Given the description of an element on the screen output the (x, y) to click on. 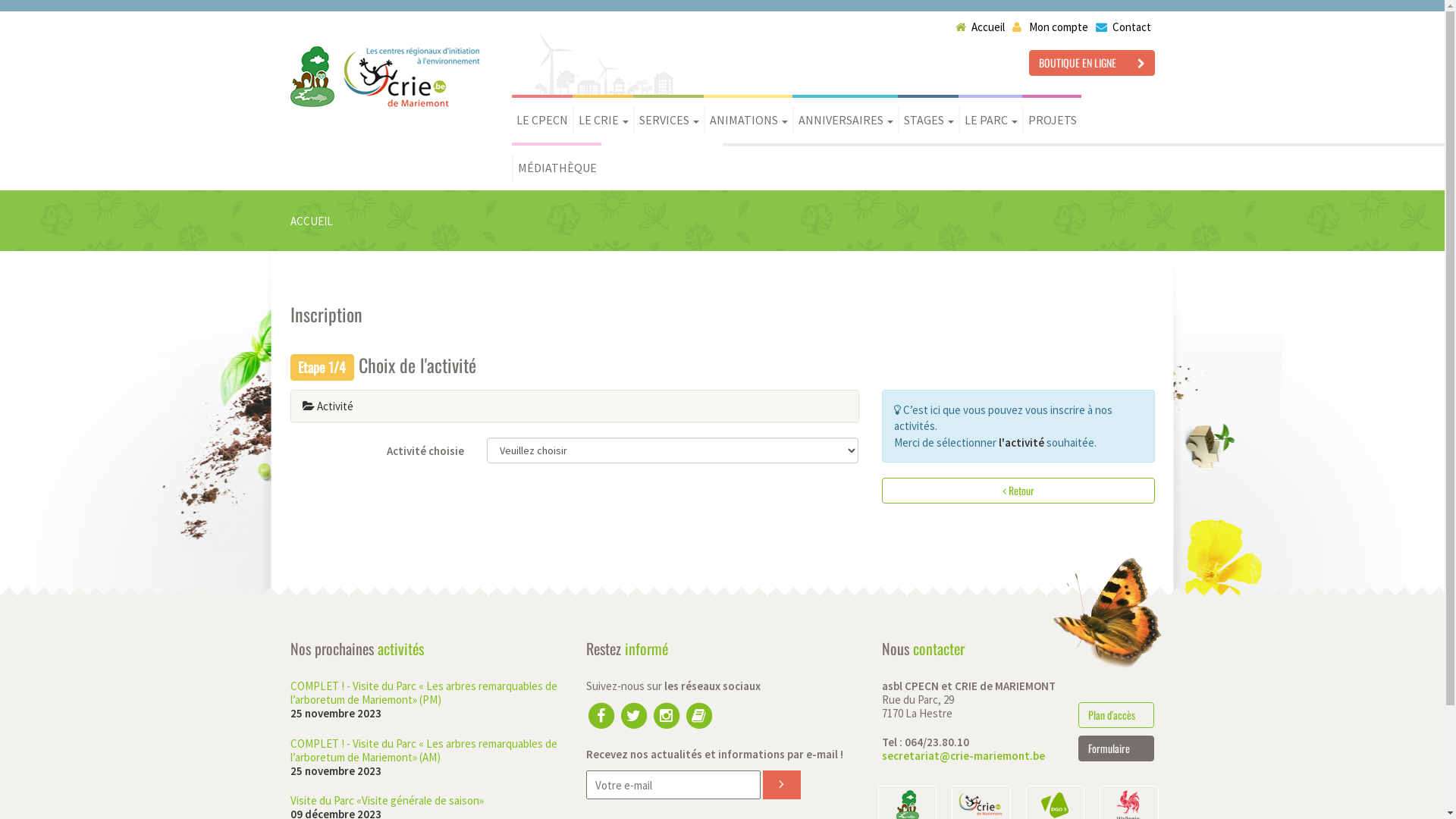
SERVICES Element type: text (668, 119)
Accueil Element type: text (979, 26)
Formulaire Element type: text (1116, 748)
Mon compte Element type: text (1049, 26)
secretariat@crie-mariemont.be Element type: text (962, 755)
STAGES Element type: text (927, 119)
LE PARC Element type: text (990, 119)
LE CPECN Element type: text (541, 119)
Retour Element type: text (1017, 490)
LE CRIE Element type: text (602, 119)
PROJETS Element type: text (1051, 119)
ANNIVERSAIRES Element type: text (844, 119)
Contact Element type: text (1122, 26)
ANIMATIONS Element type: text (747, 119)
BOUTIQUE EN LIGNE Element type: text (1091, 62)
